Given the description of an element on the screen output the (x, y) to click on. 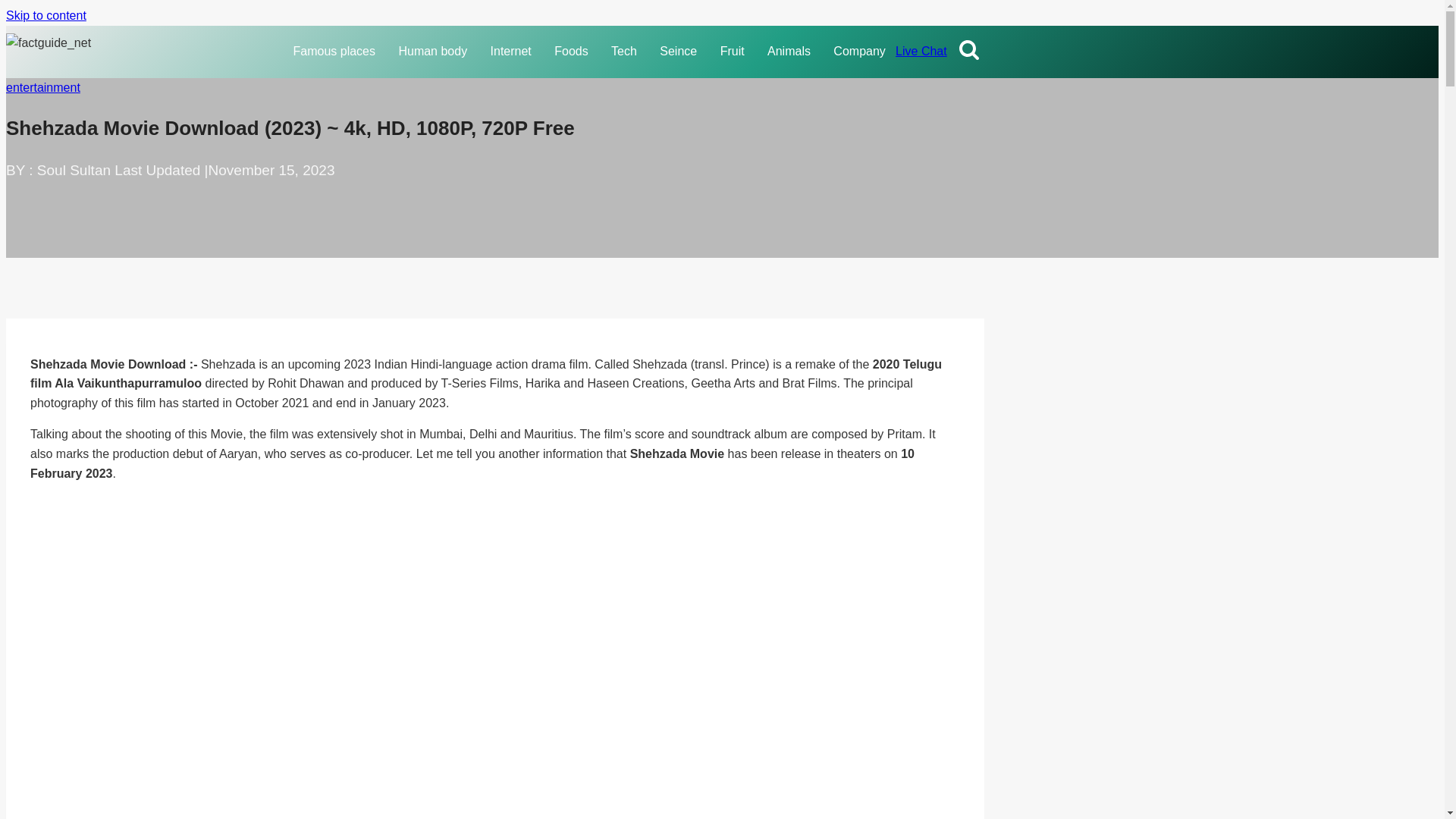
Tech (626, 51)
Famous places (335, 51)
Foods (573, 51)
Fruit (734, 51)
Skip to content (45, 15)
Human body (435, 51)
Search (968, 48)
Seince (681, 51)
Company (861, 51)
entertainment (42, 87)
Skip to content (45, 15)
Internet (512, 51)
Live Chat (921, 51)
Animals (791, 51)
